Given the description of an element on the screen output the (x, y) to click on. 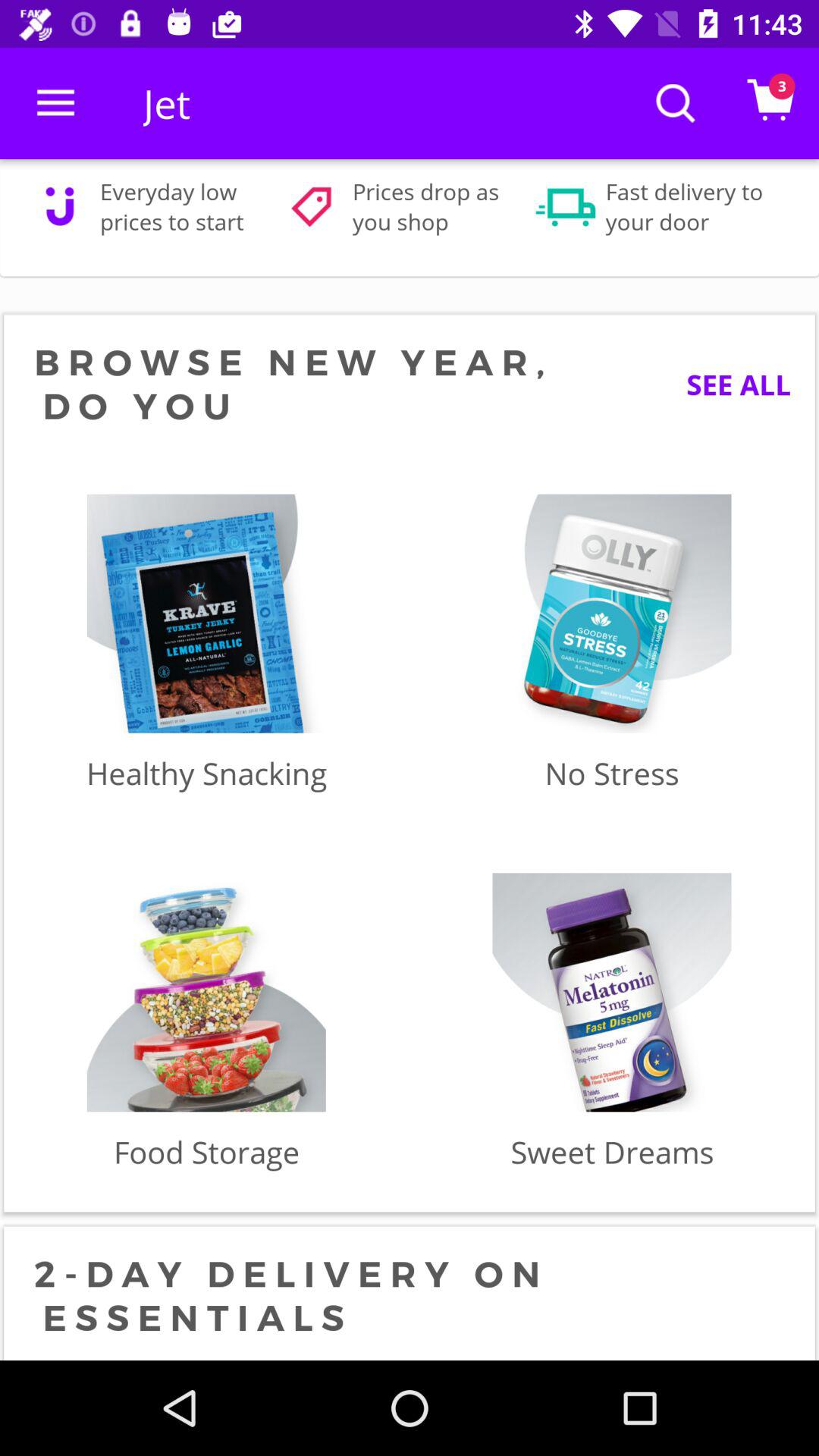
scroll until the see all icon (727, 384)
